Given the description of an element on the screen output the (x, y) to click on. 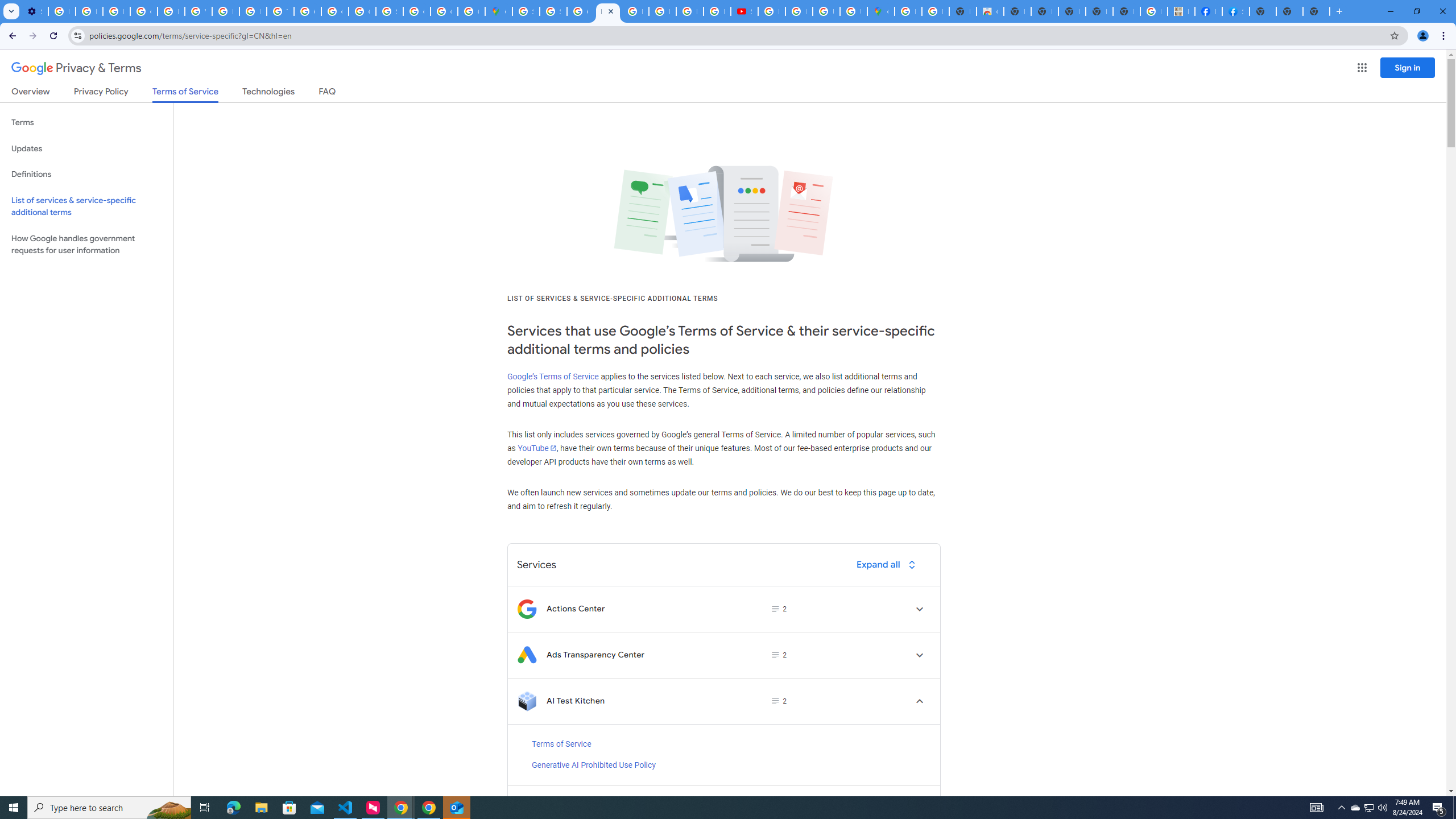
Sign Up for Facebook (1236, 11)
Sign in - Google Accounts (389, 11)
